Given the description of an element on the screen output the (x, y) to click on. 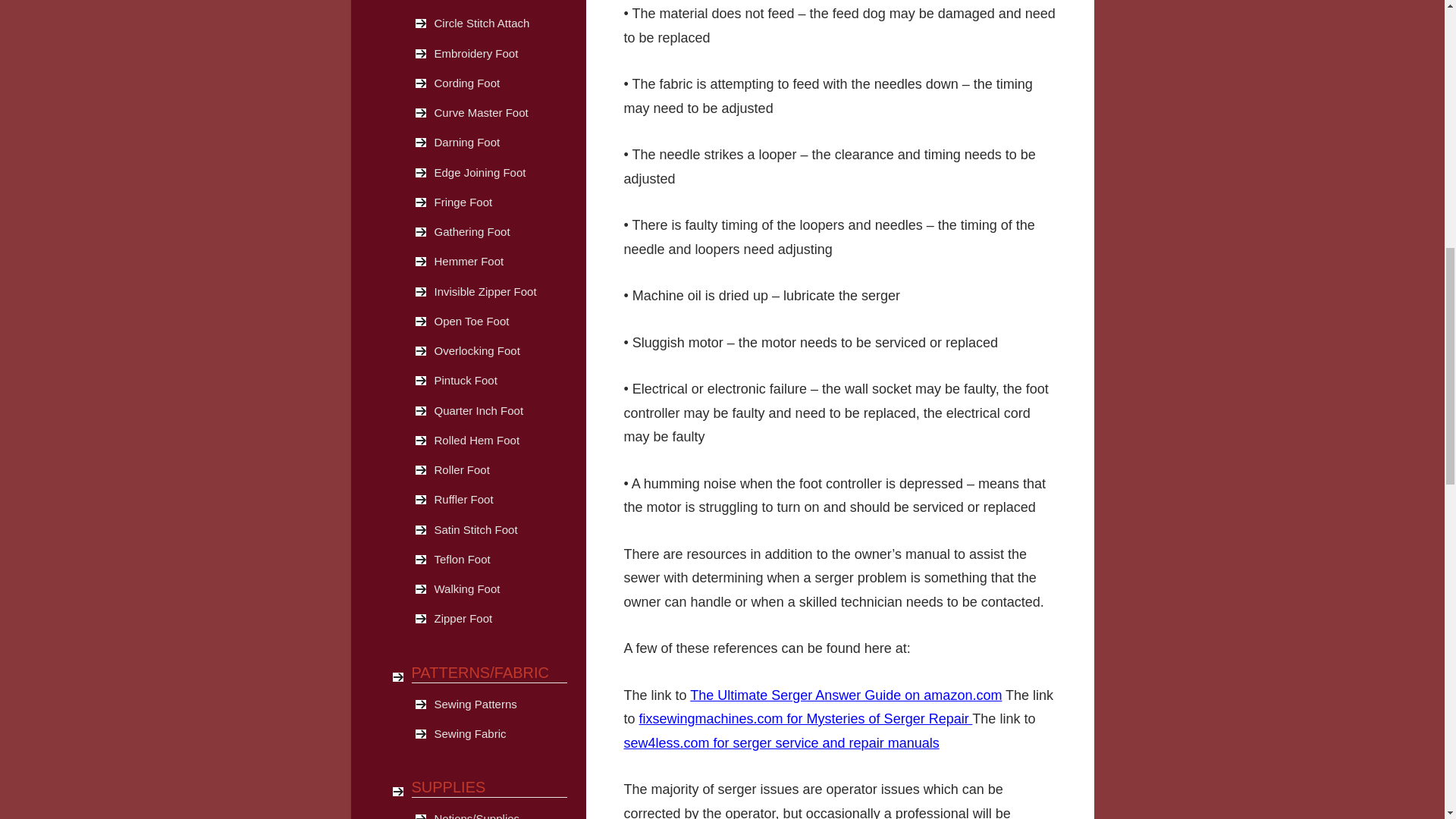
Darning Foot (499, 142)
Pintuck Foot (499, 379)
Hemmer Foot (499, 261)
Circle Stitch Attach (499, 22)
Quarter Inch Foot (499, 411)
Fringe Foot (499, 202)
Sewing Fabric (499, 733)
Zipper Foot (499, 618)
Teflon Foot (499, 559)
Overlocking Foot (499, 350)
